Given the description of an element on the screen output the (x, y) to click on. 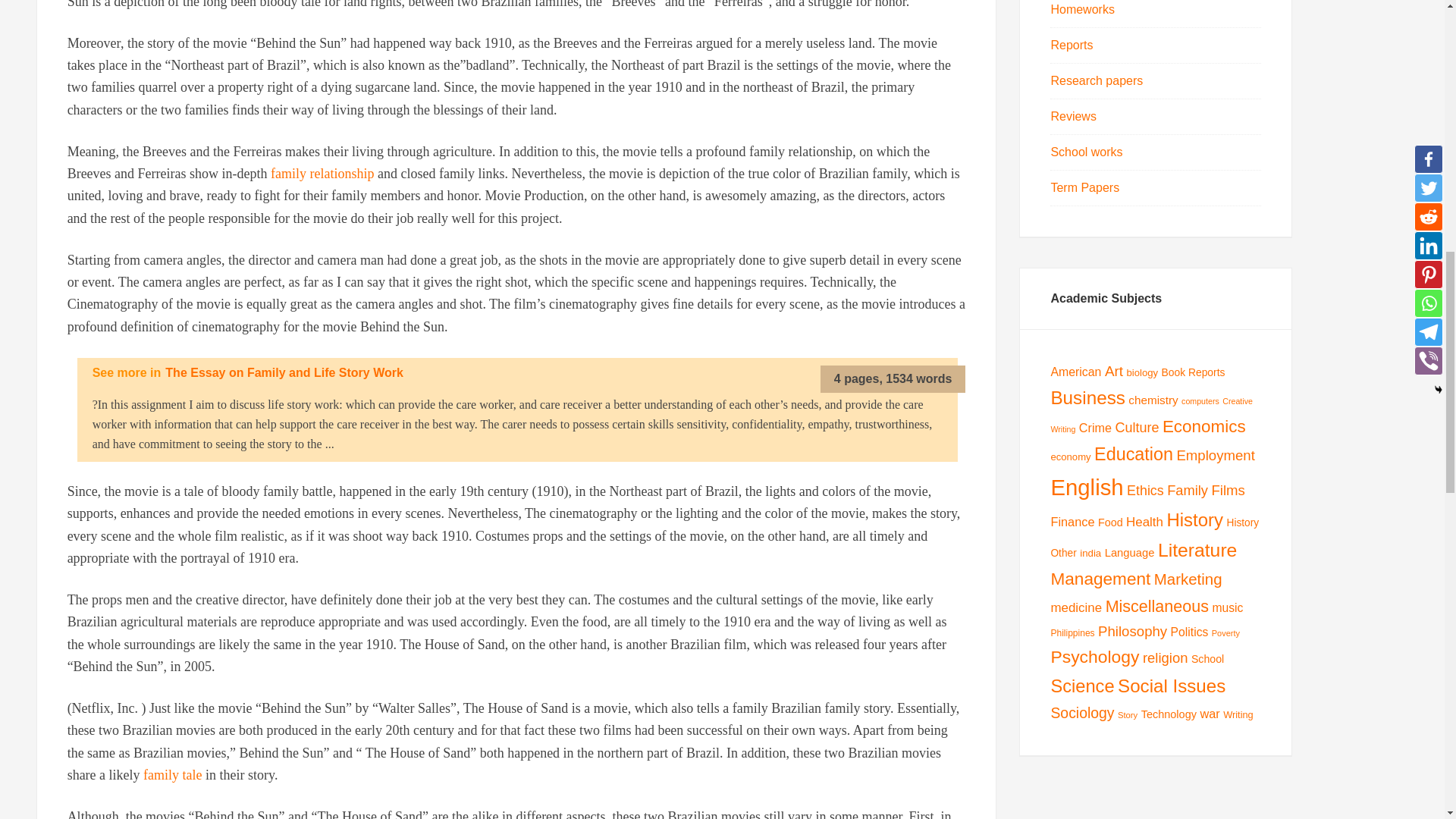
The Essay on Family and Life Story Work (284, 372)
family relationship (322, 173)
Homeworks (1081, 9)
The Essay on King Lear A Fairy (172, 774)
family tale (172, 774)
